Given the description of an element on the screen output the (x, y) to click on. 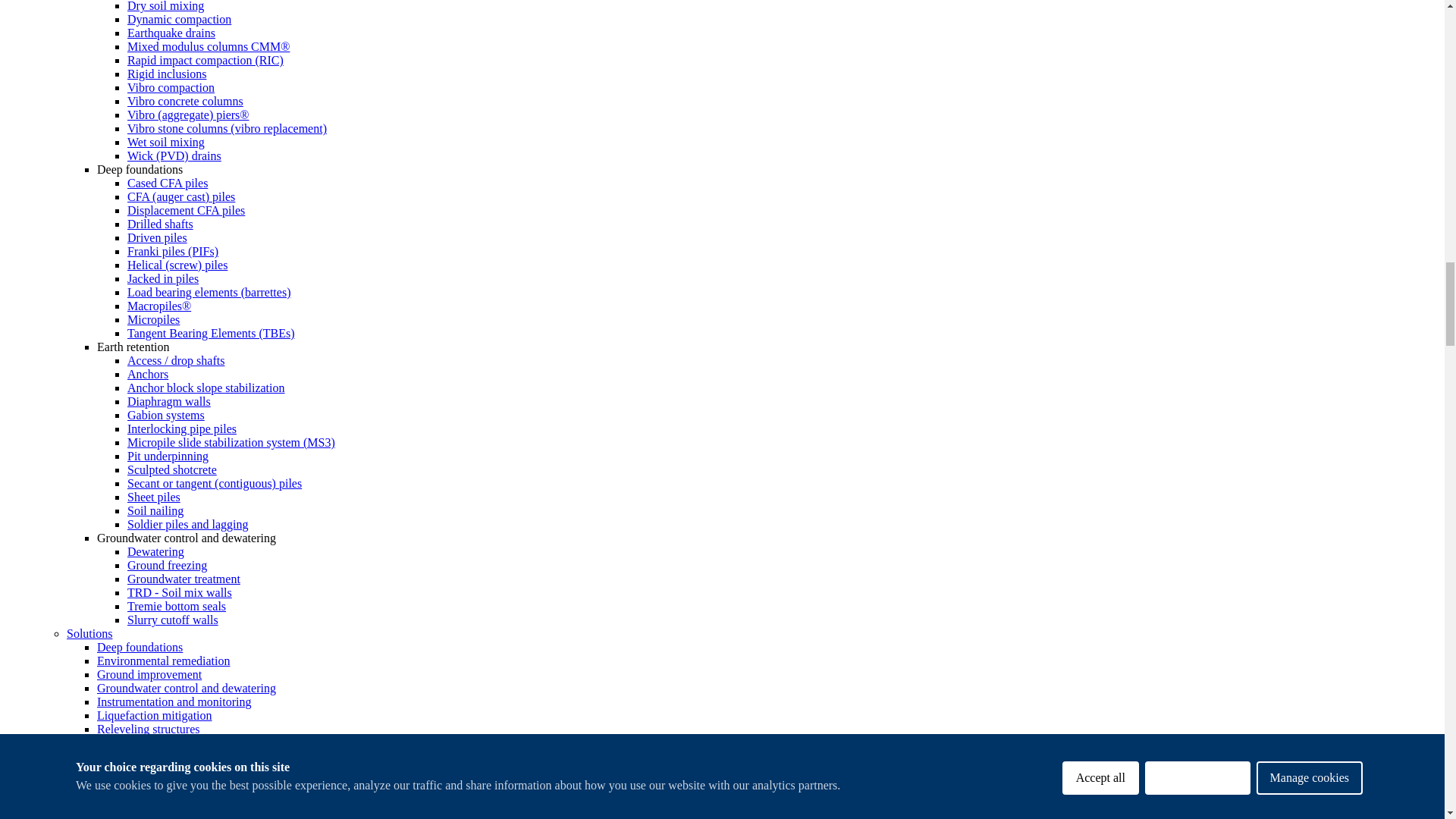
Dry soil mixing (165, 6)
Wet soil mixing (166, 141)
Dry soil mixing (165, 6)
Cased CFA piles (168, 182)
Rigid inclusions (167, 73)
Dynamic compaction (179, 19)
Earthquake drains (171, 32)
Drilled shafts (160, 223)
Displacement CFA piles (186, 210)
Dynamic compaction (179, 19)
Earthquake drains (171, 32)
Vibro concrete columns (185, 101)
Vibro compaction (171, 87)
